Given the description of an element on the screen output the (x, y) to click on. 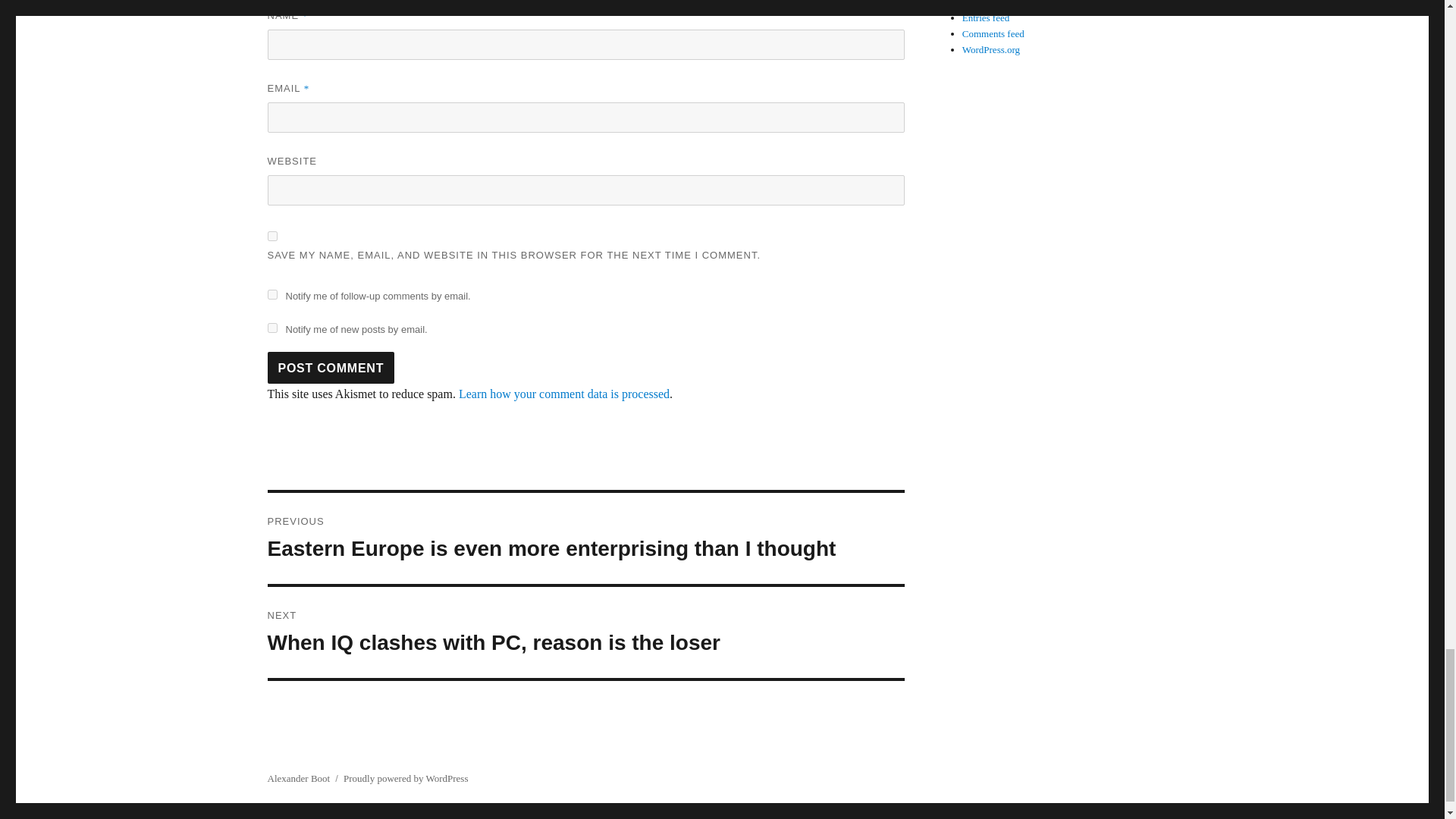
Post Comment (330, 368)
Learn how your comment data is processed (563, 393)
subscribe (271, 327)
Post Comment (330, 368)
subscribe (271, 294)
yes (271, 235)
